Given the description of an element on the screen output the (x, y) to click on. 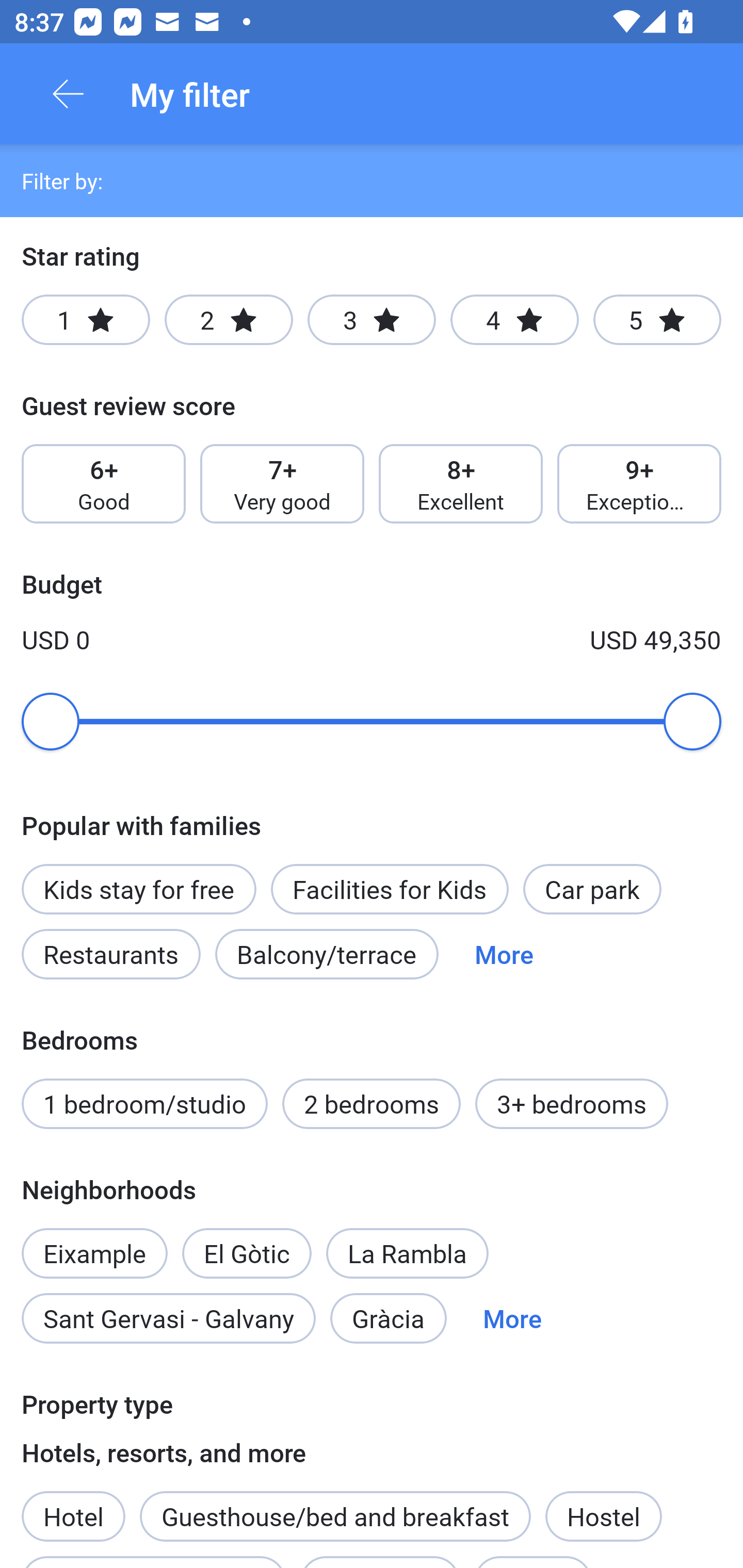
1 (85, 319)
2 (228, 319)
3 (371, 319)
4 (514, 319)
5 (657, 319)
6+ Good (103, 483)
7+ Very good (281, 483)
8+ Excellent (460, 483)
9+ Exceptional (639, 483)
Kids stay for free (138, 888)
Facilities for Kids (389, 888)
Car park (592, 888)
Restaurants (110, 954)
Balcony/terrace (326, 954)
More (504, 954)
1 bedroom/studio (144, 1103)
2 bedrooms (371, 1103)
3+ bedrooms (571, 1103)
Eixample (94, 1242)
El Gòtic (246, 1242)
La Rambla (407, 1253)
Sant Gervasi - Galvany (168, 1317)
Gràcia (387, 1317)
More (512, 1317)
Hotel (73, 1505)
Guesthouse/bed and breakfast (335, 1516)
Hostel (603, 1516)
